Given the description of an element on the screen output the (x, y) to click on. 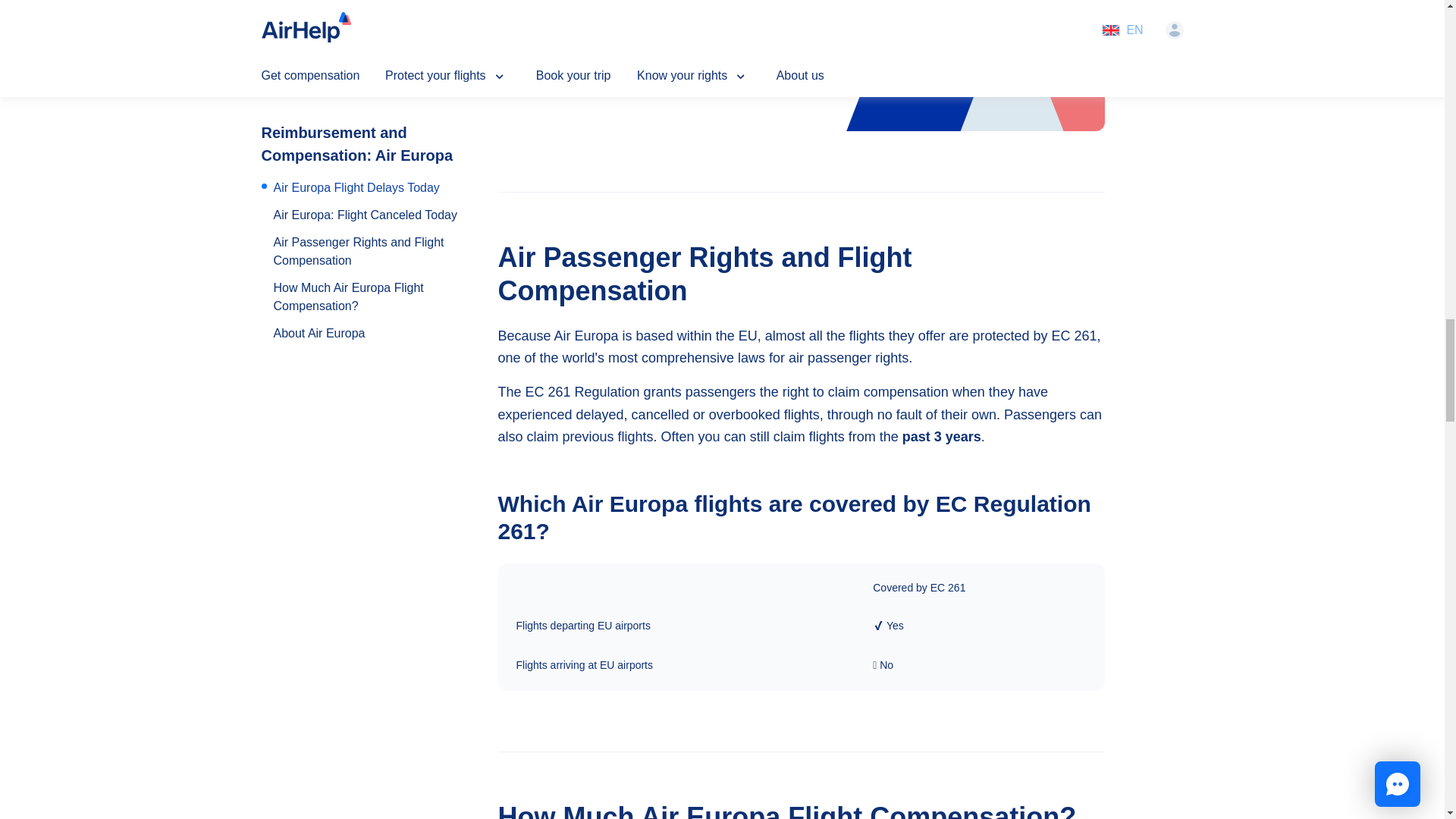
Check your Compensation (1010, 40)
Check your Compensation (1010, 3)
